Given the description of an element on the screen output the (x, y) to click on. 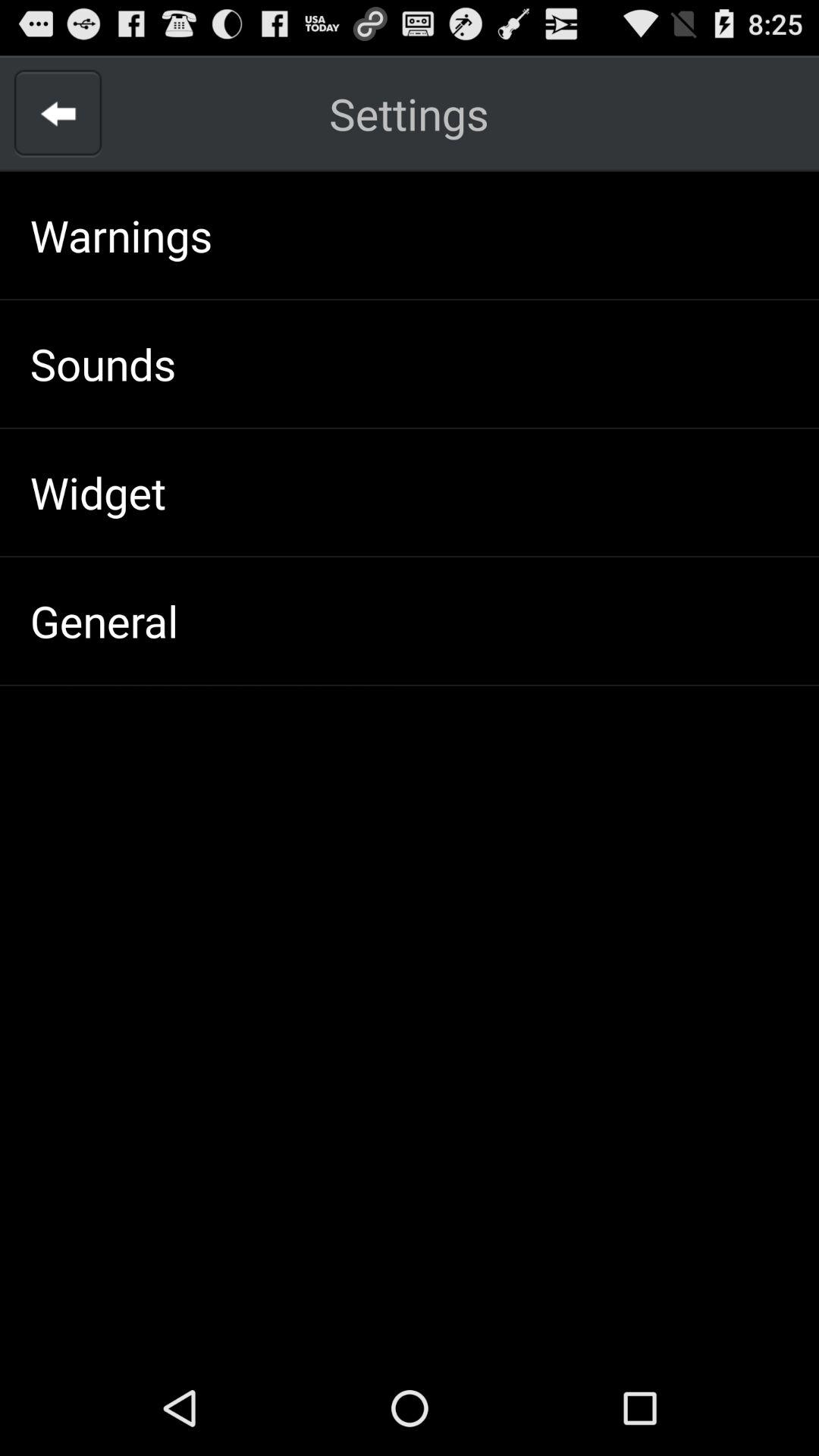
go back (57, 113)
